Given the description of an element on the screen output the (x, y) to click on. 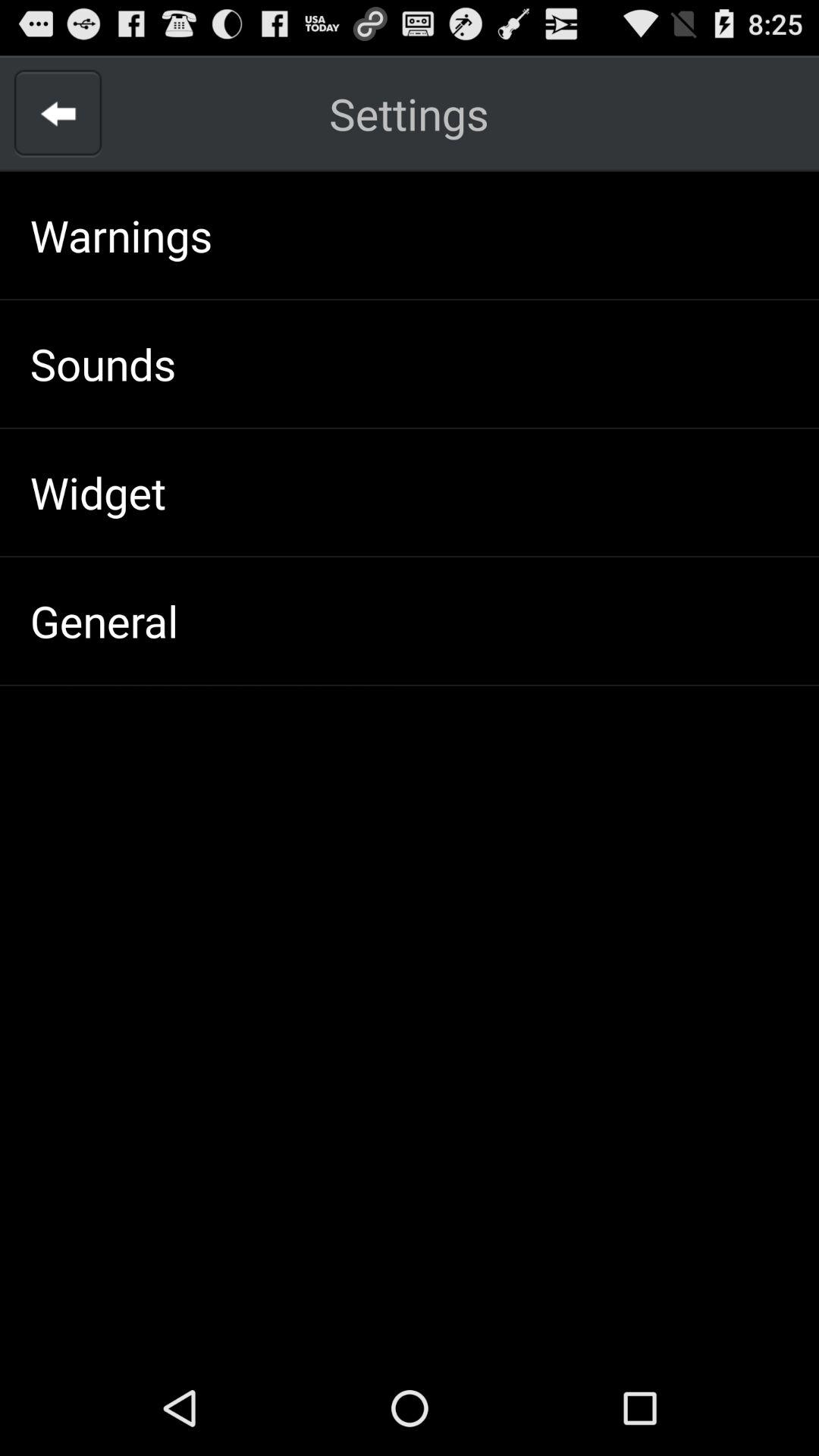
go back (57, 113)
